Given the description of an element on the screen output the (x, y) to click on. 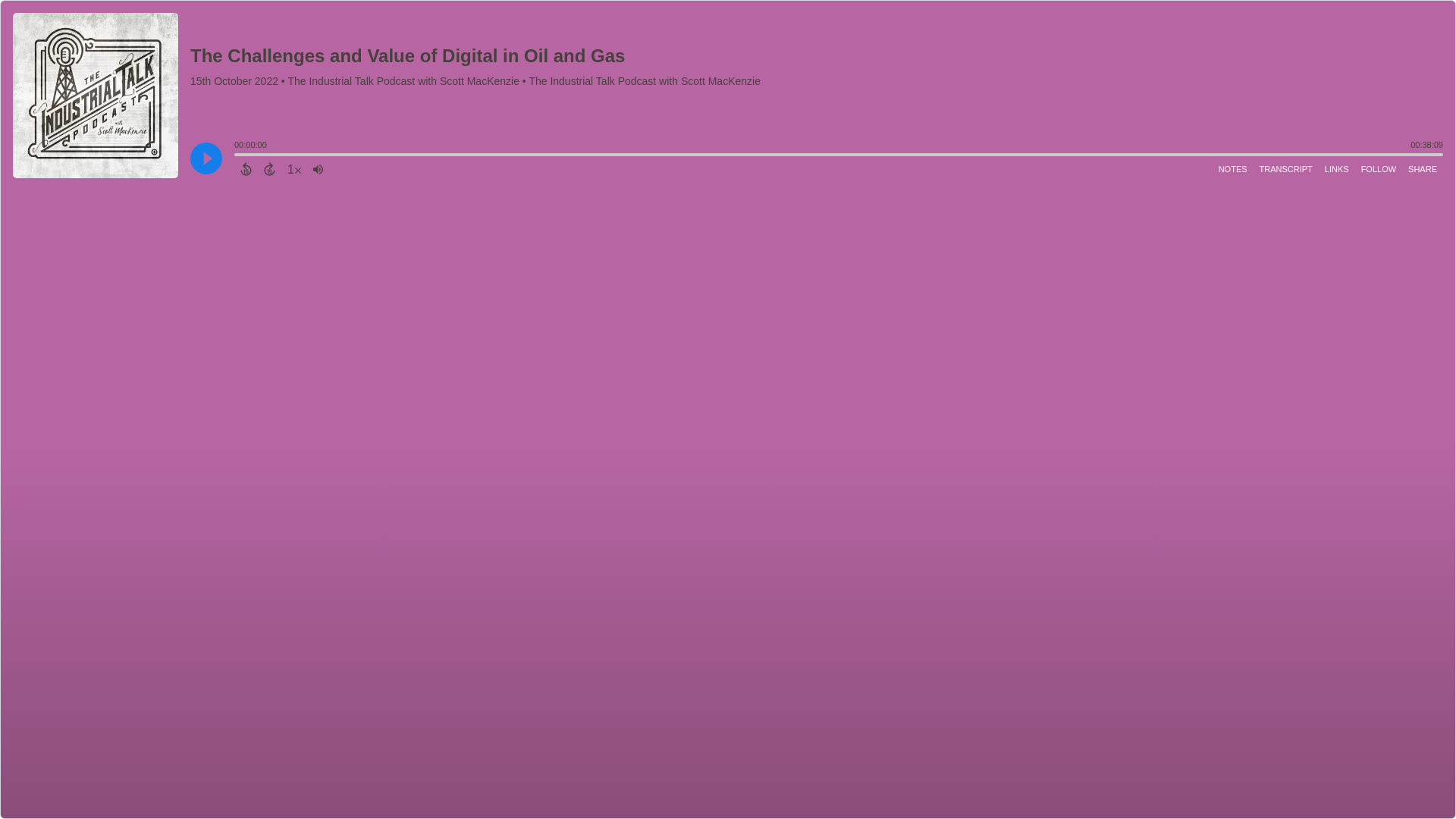
LINKS (1337, 168)
SHARE (1422, 168)
TRANSCRIPT (1286, 168)
1 (294, 168)
NOTES (1232, 168)
FOLLOW (1378, 168)
